Given the description of an element on the screen output the (x, y) to click on. 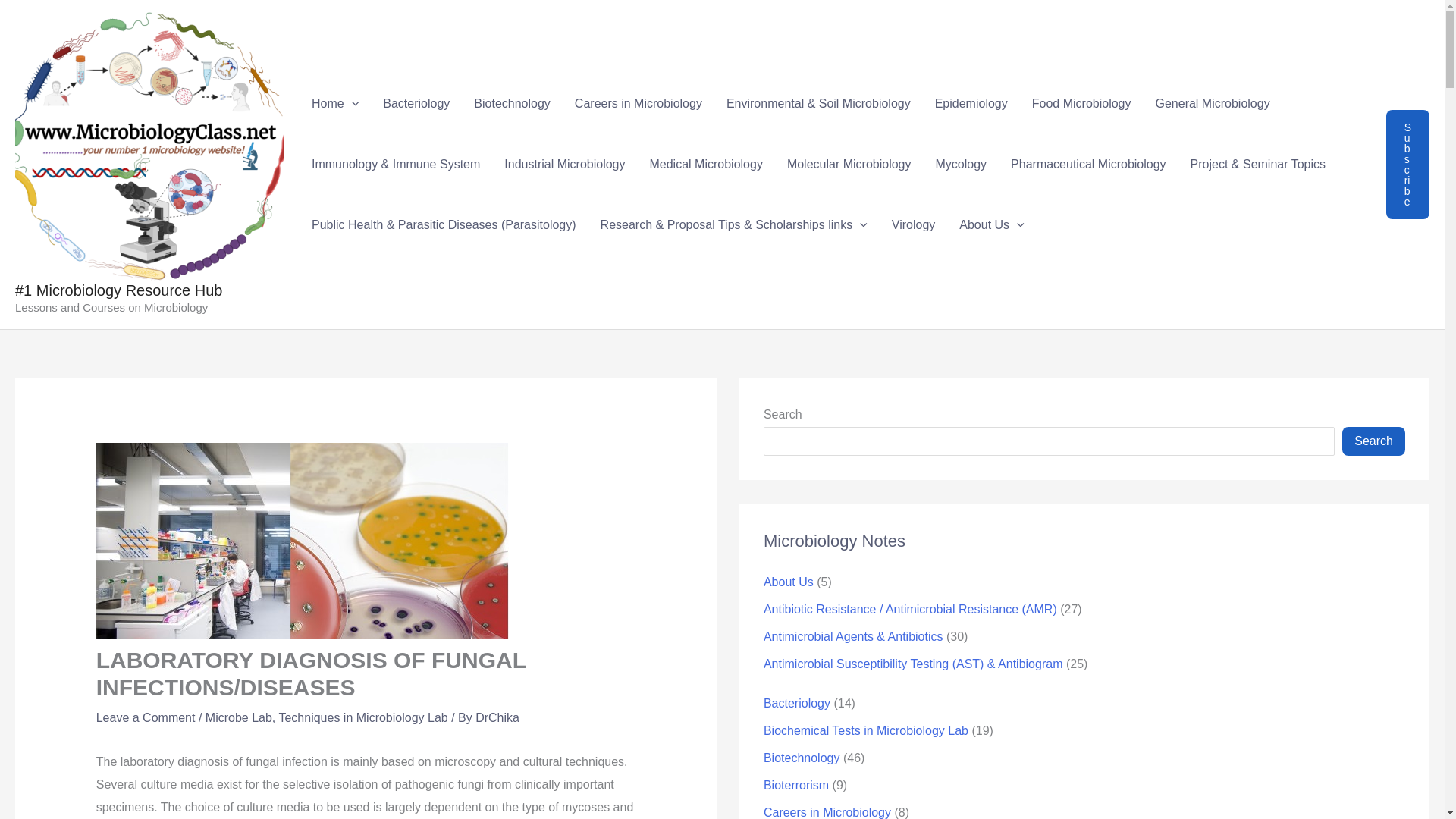
View all posts by DrChika (497, 717)
Medical Microbiology (705, 164)
Molecular Microbiology (848, 164)
Mycology (960, 164)
Epidemiology (971, 103)
Bacteriology (416, 103)
Careers in Microbiology (638, 103)
General Microbiology (1211, 103)
Home (335, 103)
Industrial Microbiology (564, 164)
